Given the description of an element on the screen output the (x, y) to click on. 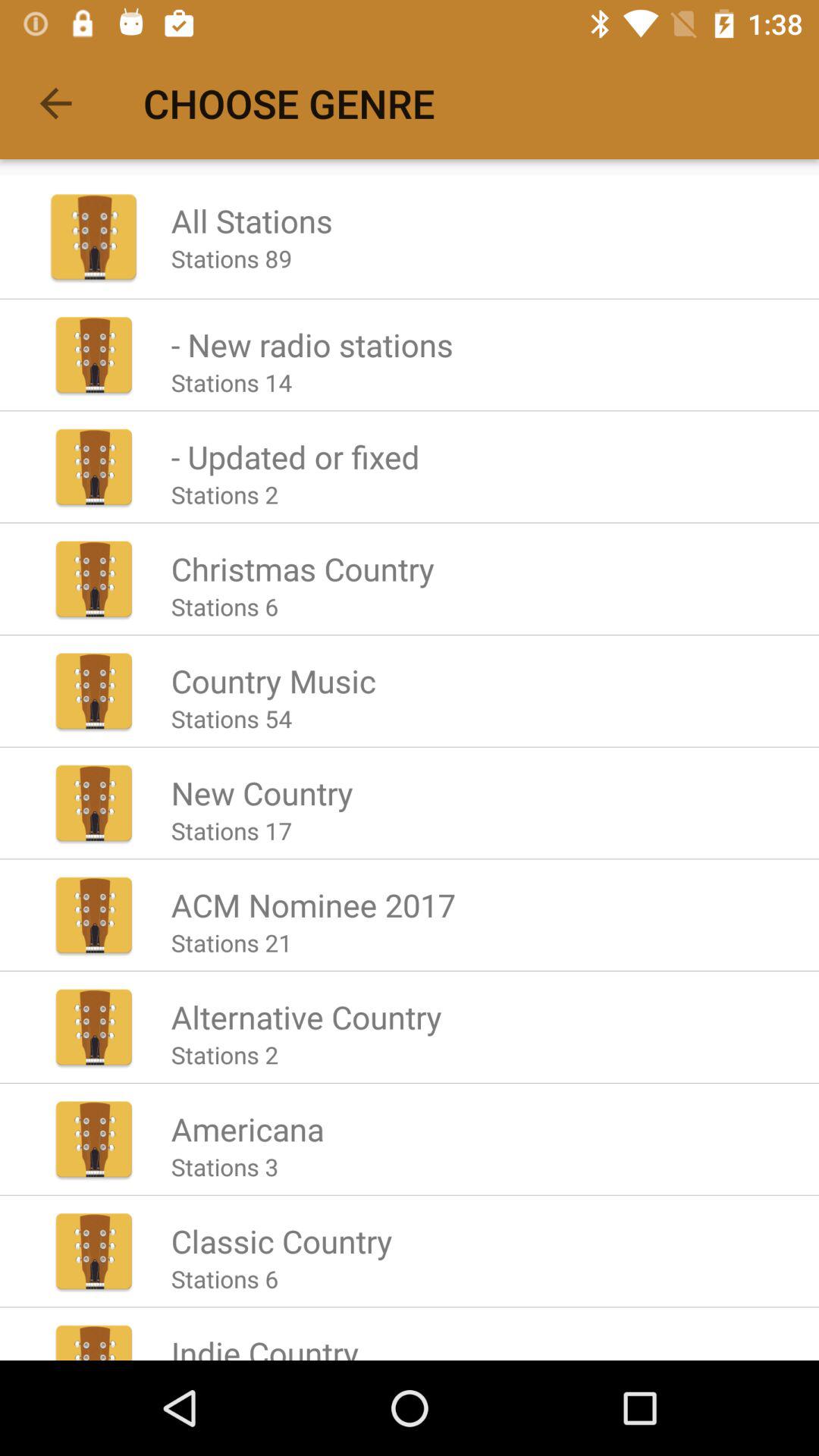
turn on the icon below the stations 2 item (302, 568)
